Given the description of an element on the screen output the (x, y) to click on. 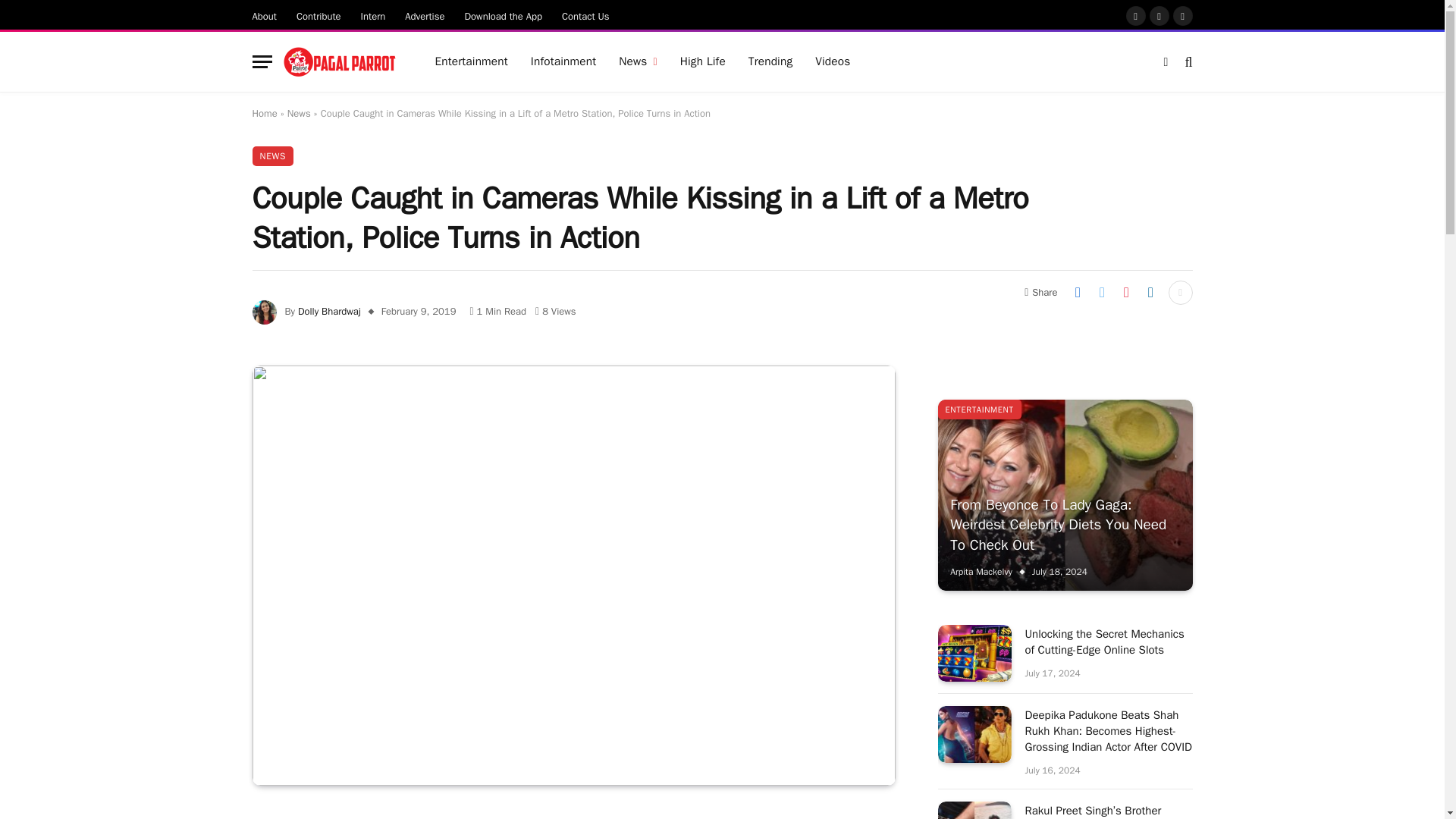
Advertise (424, 15)
About (264, 15)
PagalParrot (340, 62)
Contribute (318, 15)
Contact Us (585, 15)
Intern (373, 15)
Download the App (503, 15)
